Given the description of an element on the screen output the (x, y) to click on. 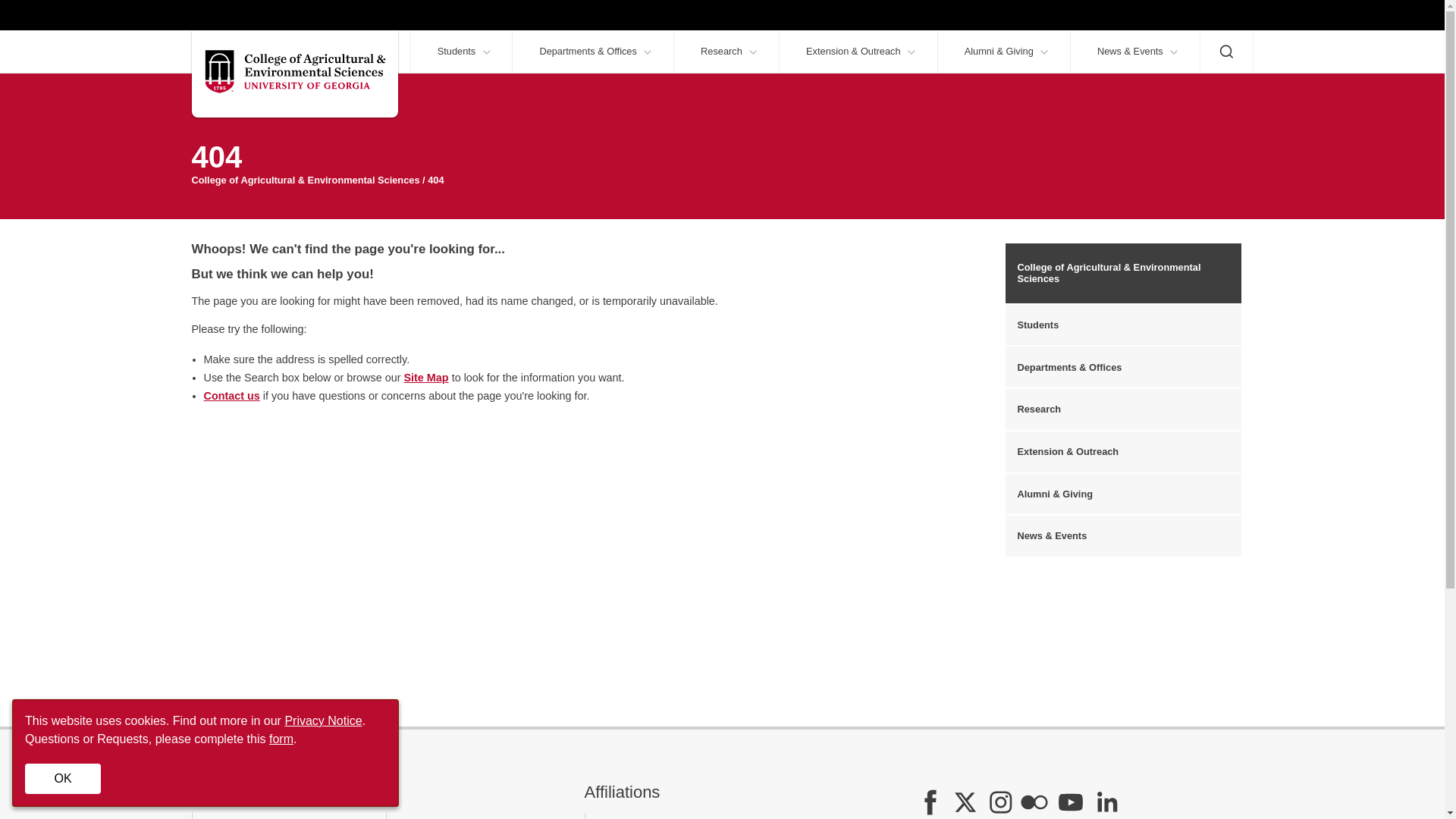
University of Georgia (261, 15)
Research (725, 51)
Students (460, 51)
